Given the description of an element on the screen output the (x, y) to click on. 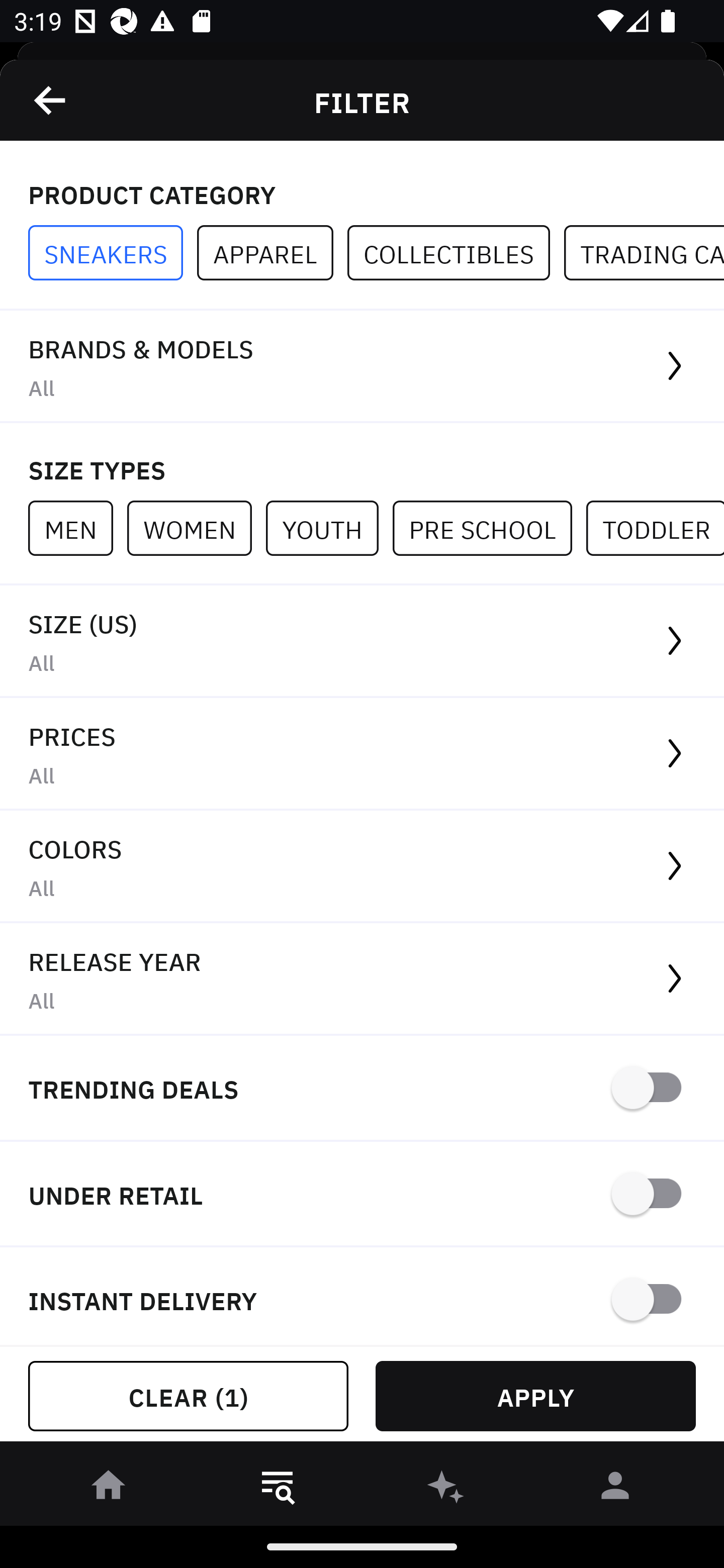
 (50, 100)
SNEAKERS (112, 252)
APPAREL (271, 252)
COLLECTIBLES (455, 252)
TRADING CARDS (643, 252)
BRANDS & MODELS All (362, 366)
MEN (77, 527)
WOMEN (196, 527)
YOUTH (328, 527)
PRE SCHOOL (489, 527)
TODDLER (655, 527)
SIZE (US) All (362, 640)
PRICES All (362, 753)
COLORS All (362, 866)
RELEASE YEAR All (362, 979)
TRENDING DEALS (362, 1088)
UNDER RETAIL (362, 1194)
INSTANT DELIVERY (362, 1296)
CLEAR (1) (188, 1396)
APPLY (535, 1396)
󰋜 (108, 1488)
󱎸 (277, 1488)
󰫢 (446, 1488)
󰀄 (615, 1488)
